Given the description of an element on the screen output the (x, y) to click on. 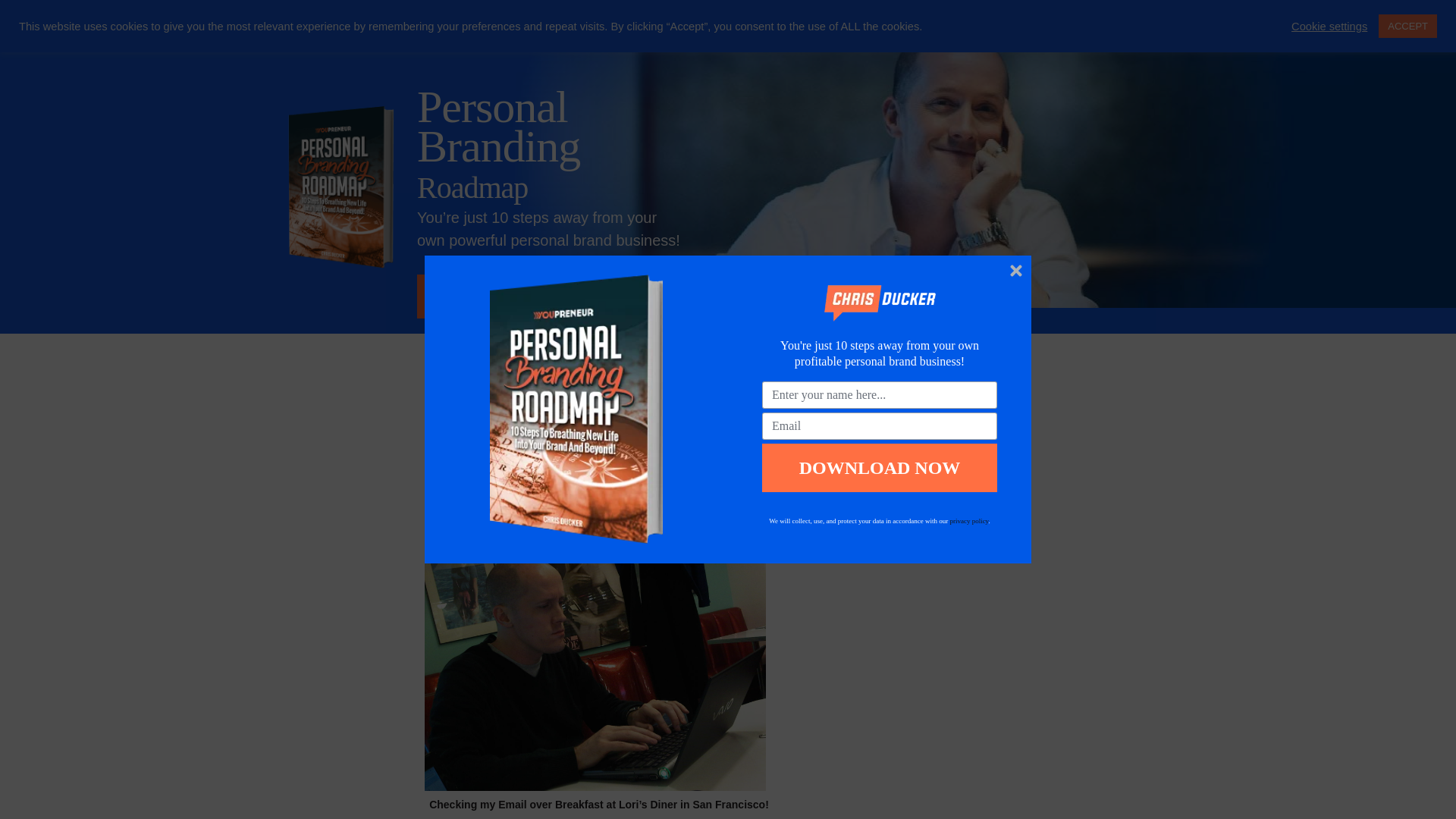
Chris Ducker (330, 34)
Close (1016, 270)
Coaching (789, 32)
DOWNLOAD NOW (879, 467)
Resources (1115, 32)
Blog (989, 32)
About (1044, 32)
DOWNLOAD NOW (516, 296)
Mastermind (706, 32)
Checking Email in Lori's SFran (595, 656)
Speaking (866, 32)
Books (934, 32)
